Given the description of an element on the screen output the (x, y) to click on. 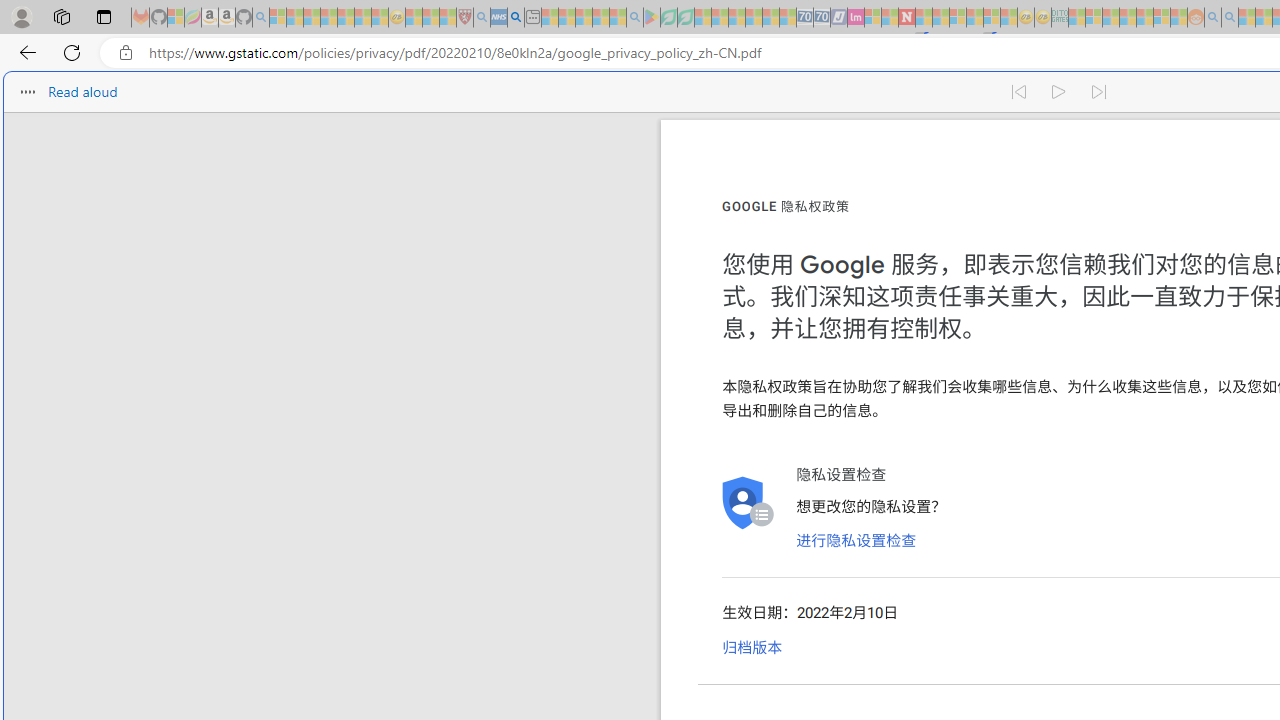
Expert Portfolios - Sleeping (1128, 17)
MSNBC - MSN - Sleeping (1076, 17)
Continue to read aloud (Ctrl+Shift+U) (1059, 92)
utah sues federal government - Search (515, 17)
New Report Confirms 2023 Was Record Hot | Watch - Sleeping (345, 17)
Cheap Car Rentals - Save70.com - Sleeping (804, 17)
